Given the description of an element on the screen output the (x, y) to click on. 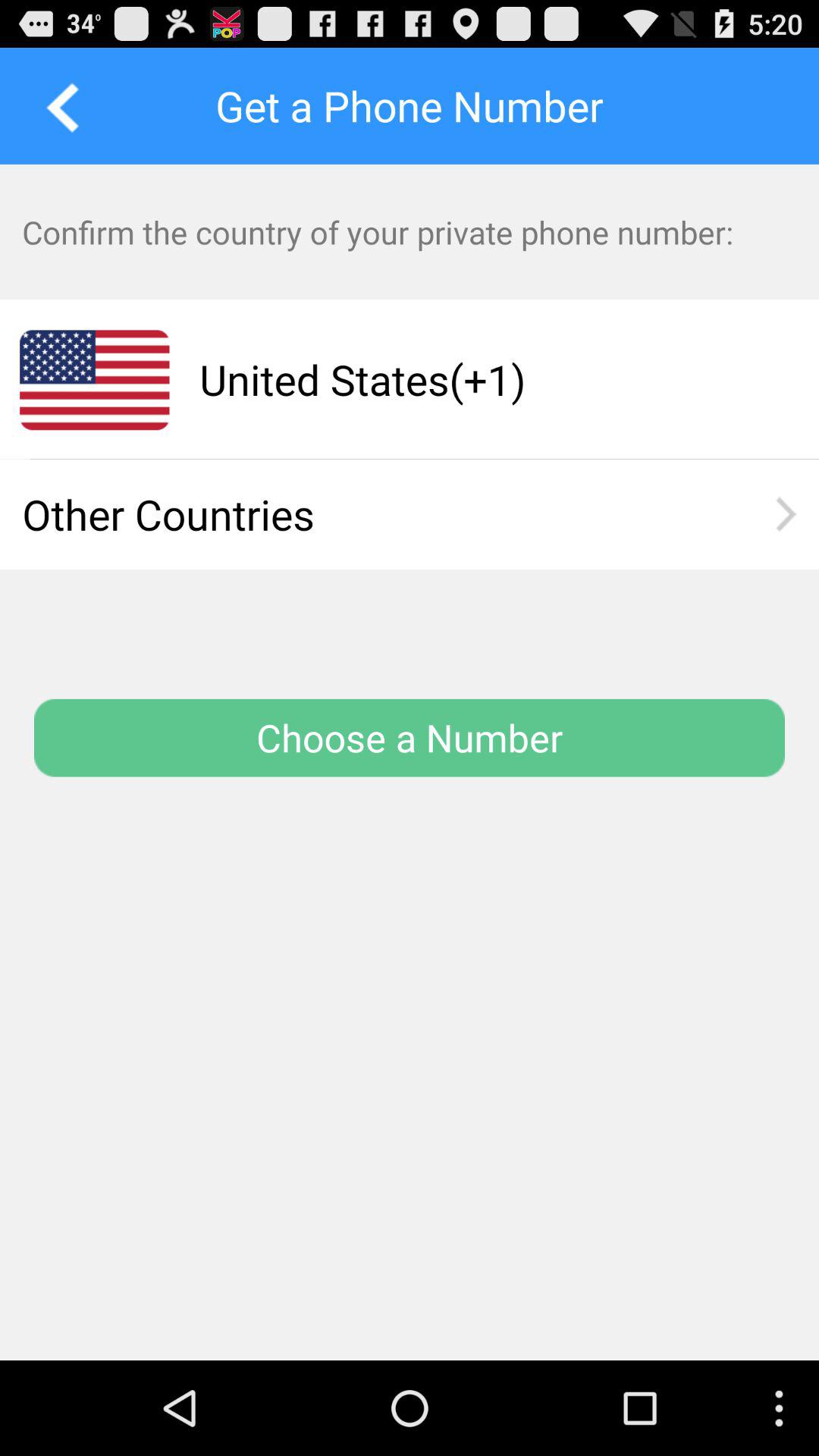
turn on app below the confirm the country (479, 378)
